Given the description of an element on the screen output the (x, y) to click on. 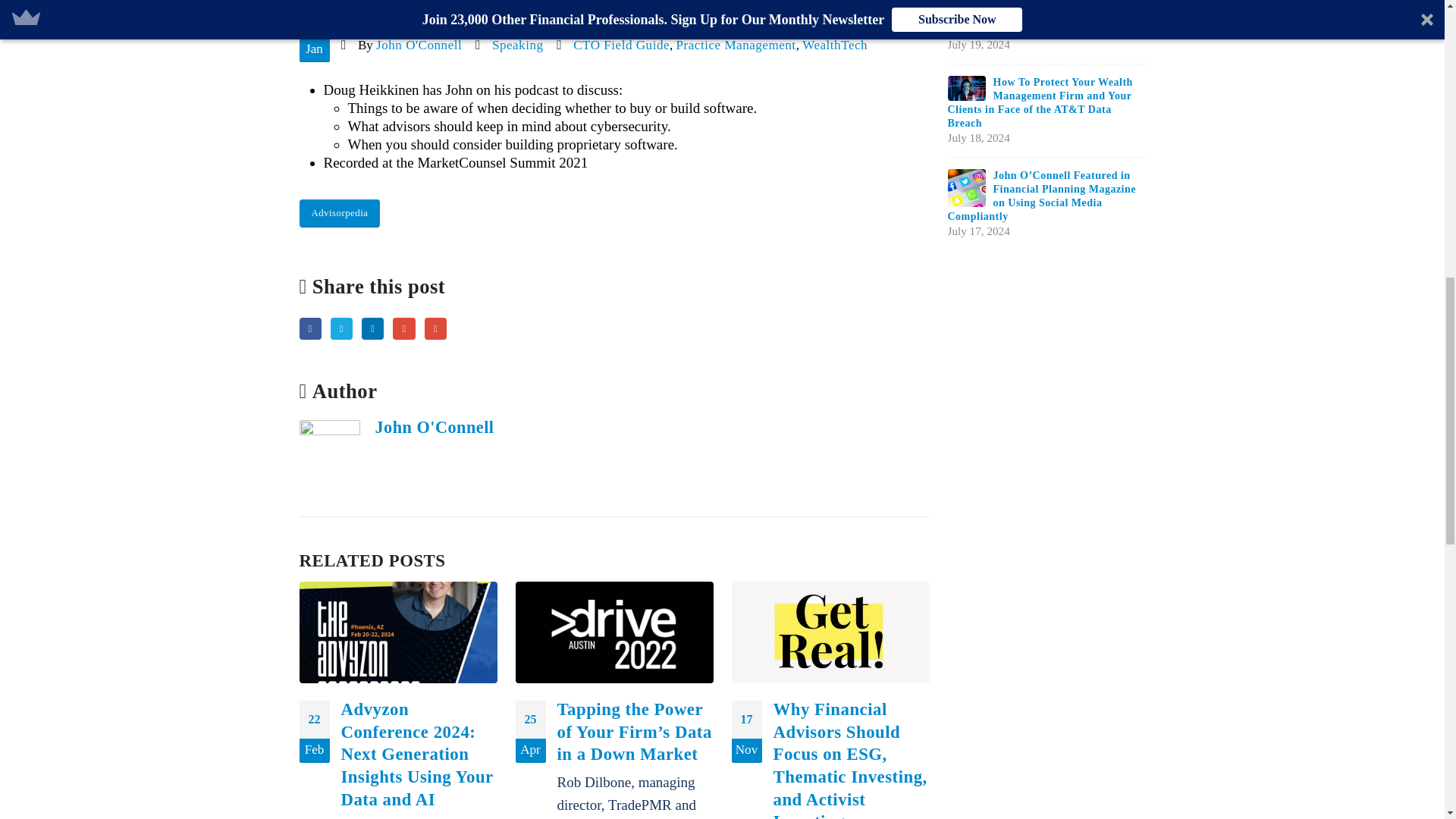
Twitter (341, 328)
WealthTech (834, 44)
CTO Field Guide (621, 44)
Facebook (309, 328)
Speaking (517, 44)
Posts by John O'Connell (418, 44)
Posts by John O'Connell (433, 426)
Email (435, 328)
Advisorpedia (339, 213)
LinkedIn (372, 328)
John O'Connell (418, 44)
Practice Management (736, 44)
John O'Connell (433, 426)
